Given the description of an element on the screen output the (x, y) to click on. 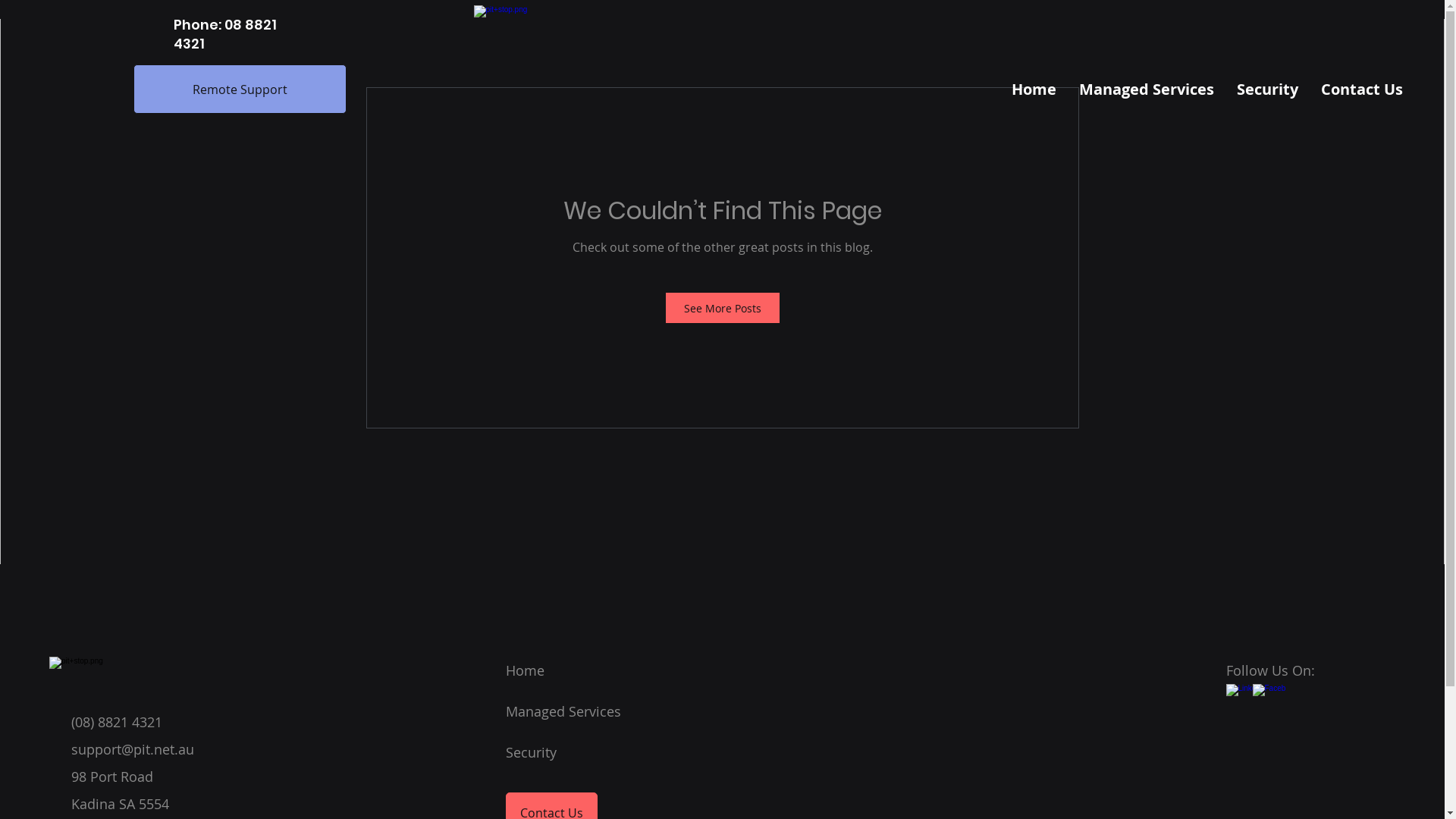
support@pit.net.au Element type: text (132, 749)
Remote Support Element type: text (239, 88)
Managed Services Element type: text (563, 711)
Home Element type: text (524, 670)
Contact Us Element type: text (1361, 89)
Managed Services Element type: text (1146, 89)
See More Posts Element type: text (722, 307)
Security Element type: text (530, 752)
Security Element type: text (1267, 89)
Home Element type: text (1033, 89)
